Given the description of an element on the screen output the (x, y) to click on. 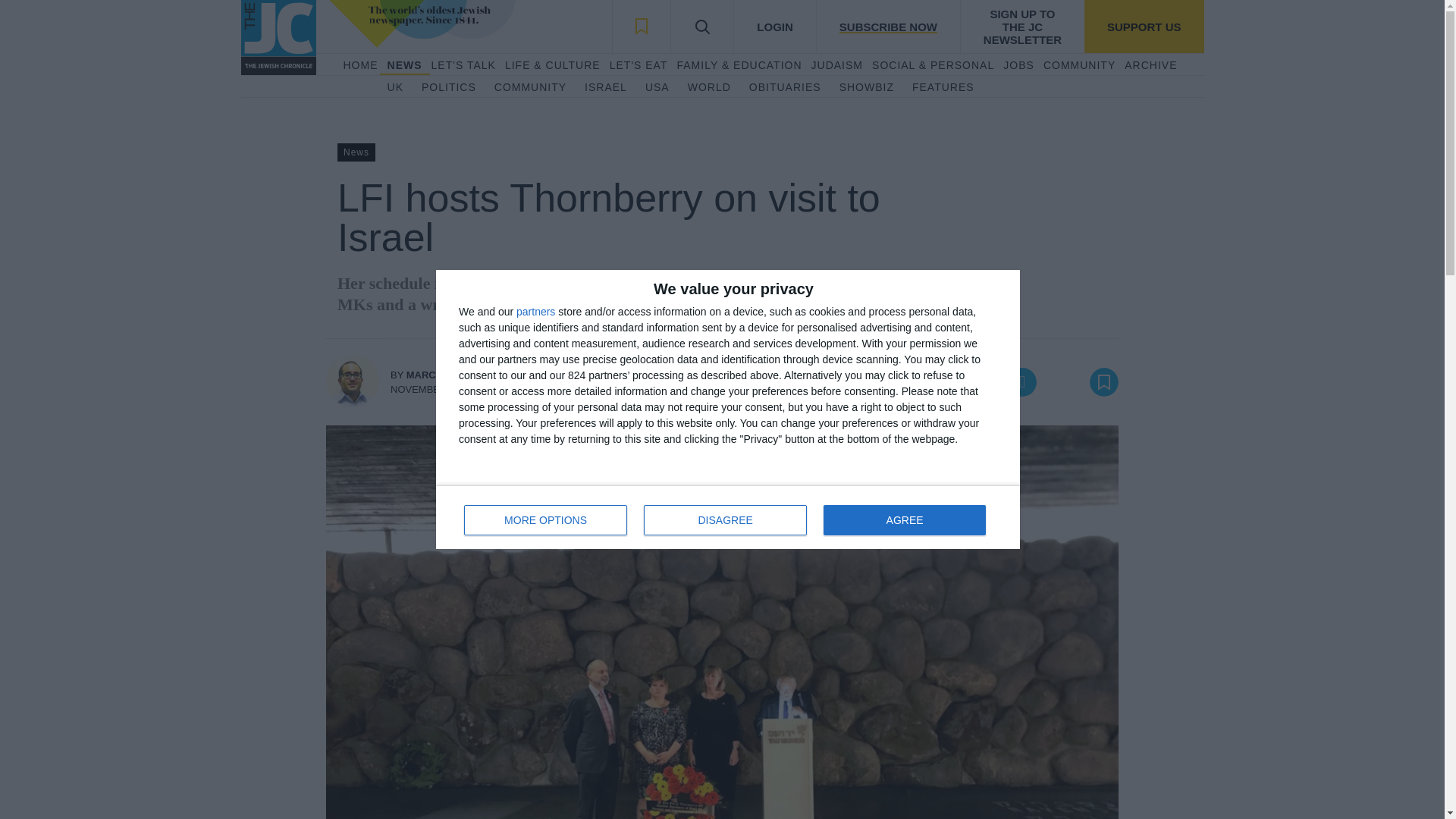
LET'S TALK (463, 65)
JUDAISM (836, 65)
HOME (727, 516)
JOBS (359, 65)
SUBSCRIBE NOW (1018, 65)
AGREE (887, 26)
WORLD (904, 520)
LET'S EAT (708, 87)
COMMUNITY (639, 65)
SUPPORT US (1079, 65)
MORE OPTIONS (1144, 26)
ISRAEL (545, 520)
COMMUNITY (606, 87)
UK (530, 87)
